Given the description of an element on the screen output the (x, y) to click on. 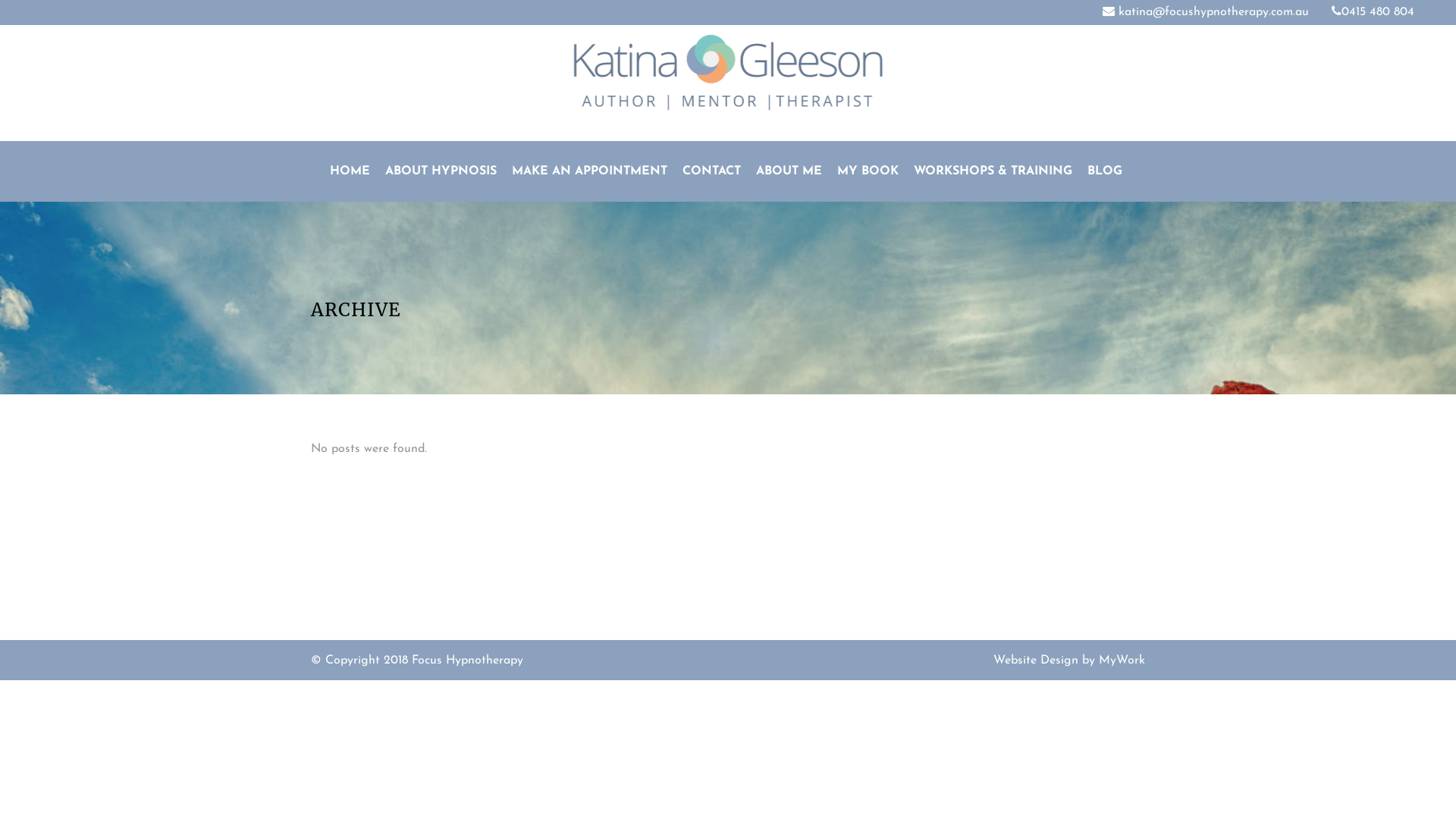
MyWork Element type: text (1121, 659)
MY BOOK Element type: text (867, 171)
MAKE AN APPOINTMENT Element type: text (589, 171)
HOME Element type: text (349, 171)
CONTACT Element type: text (711, 171)
WORKSHOPS & TRAINING Element type: text (992, 171)
katina@focushypnotherapy.com.au Element type: text (1205, 12)
ABOUT ME Element type: text (788, 171)
Focus Hypnotherapy Element type: text (467, 659)
0415 480 804 Element type: text (1372, 12)
BLOG Element type: text (1104, 171)
ABOUT HYPNOSIS Element type: text (440, 171)
